Given the description of an element on the screen output the (x, y) to click on. 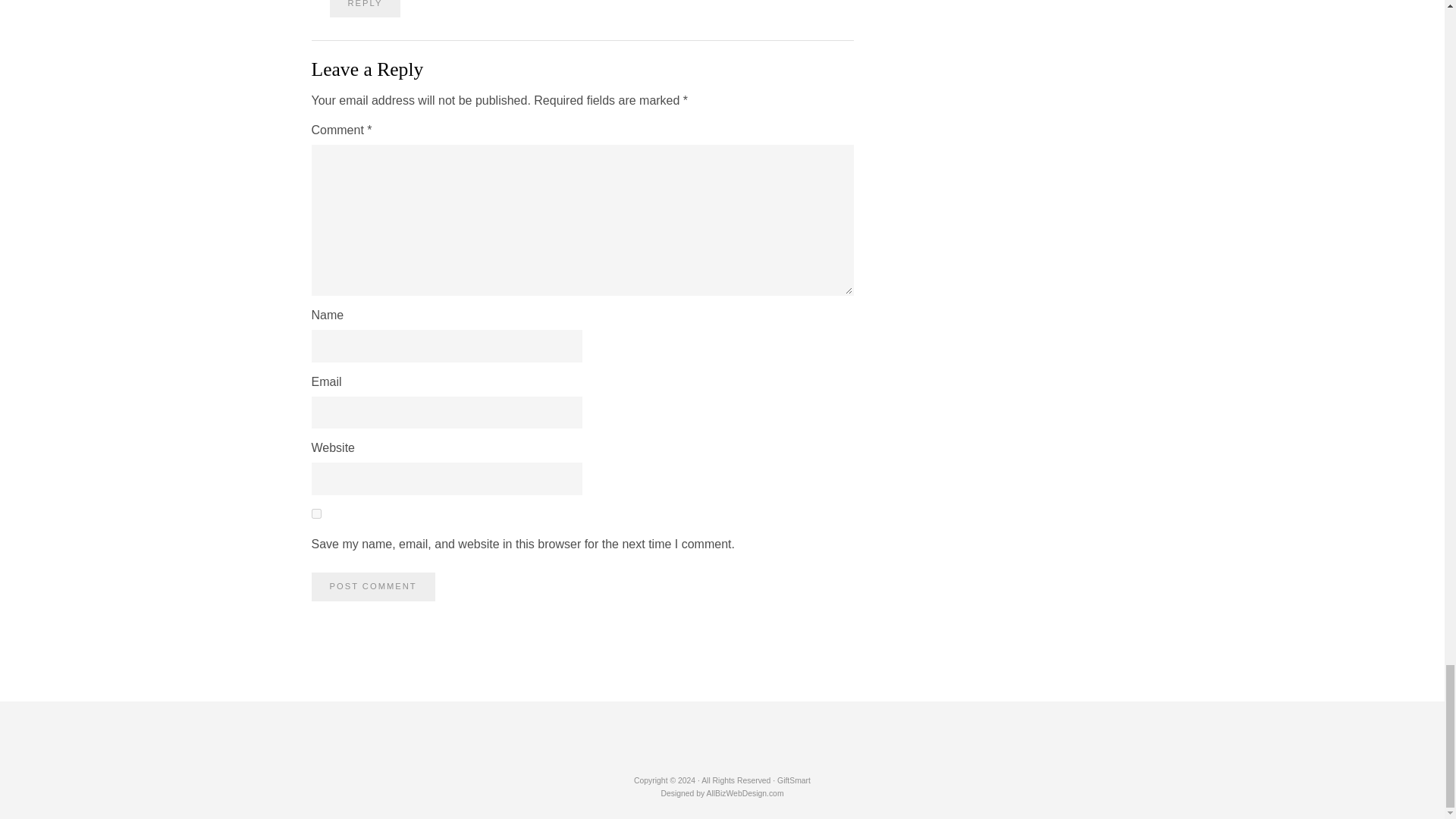
Post Comment (372, 586)
yes (315, 513)
